Given the description of an element on the screen output the (x, y) to click on. 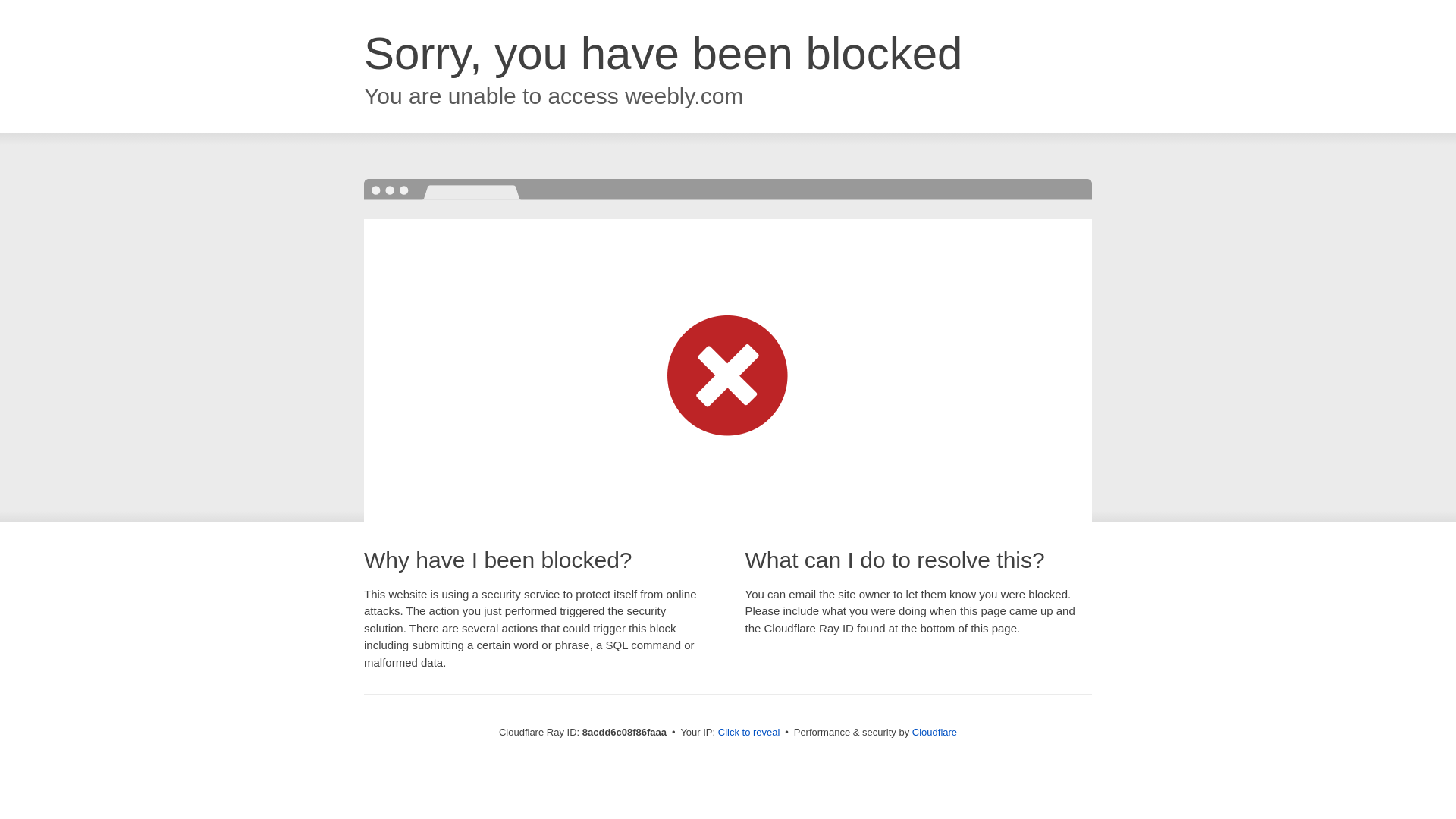
Click to reveal (748, 732)
Cloudflare (934, 731)
